Given the description of an element on the screen output the (x, y) to click on. 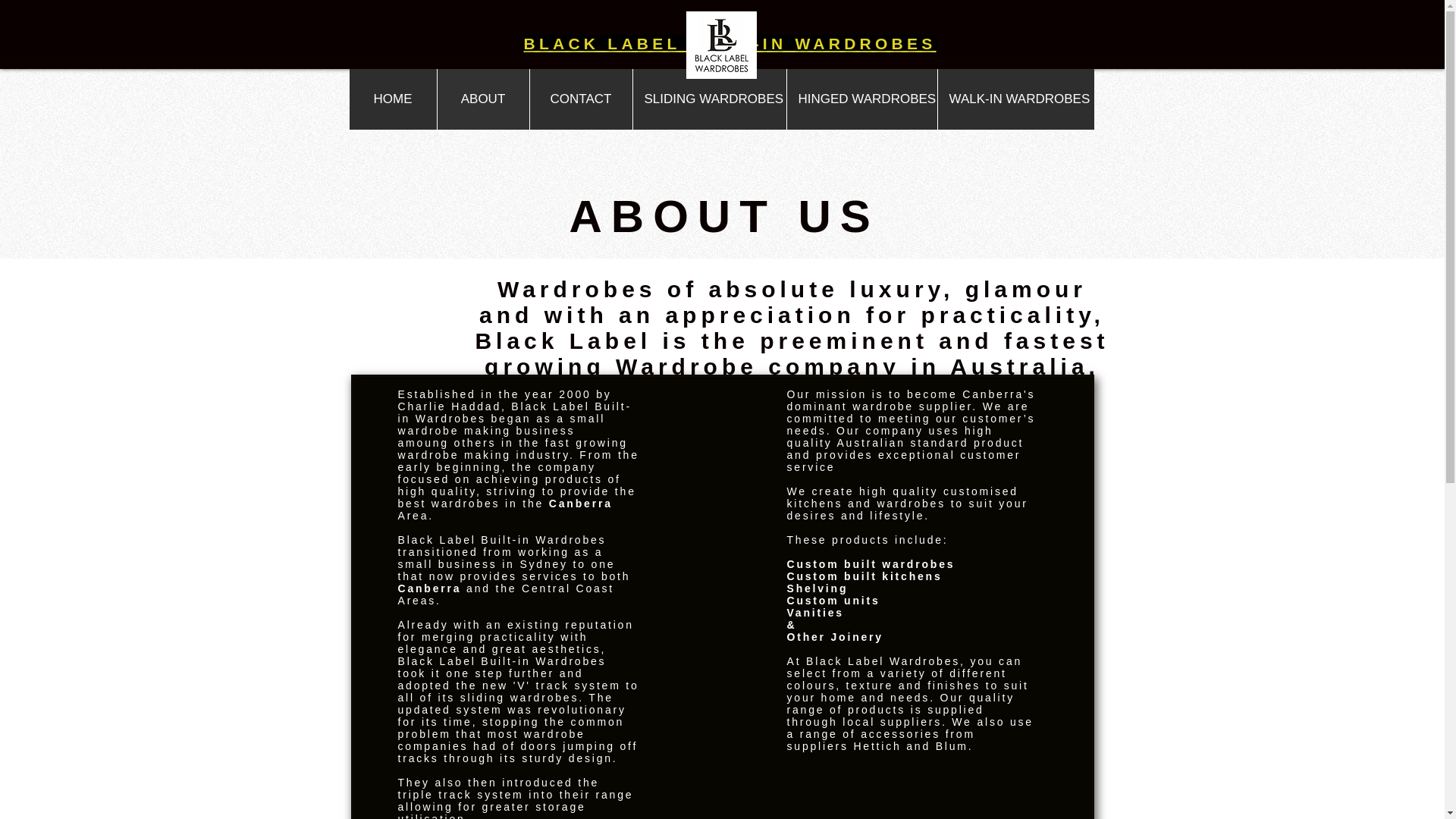
SLIDING WARDROBES (708, 98)
WALK-IN WARDROBES (1015, 98)
CONTACT (580, 98)
HINGED WARDROBES (861, 98)
HOME (392, 98)
ABOUT (482, 98)
